Given the description of an element on the screen output the (x, y) to click on. 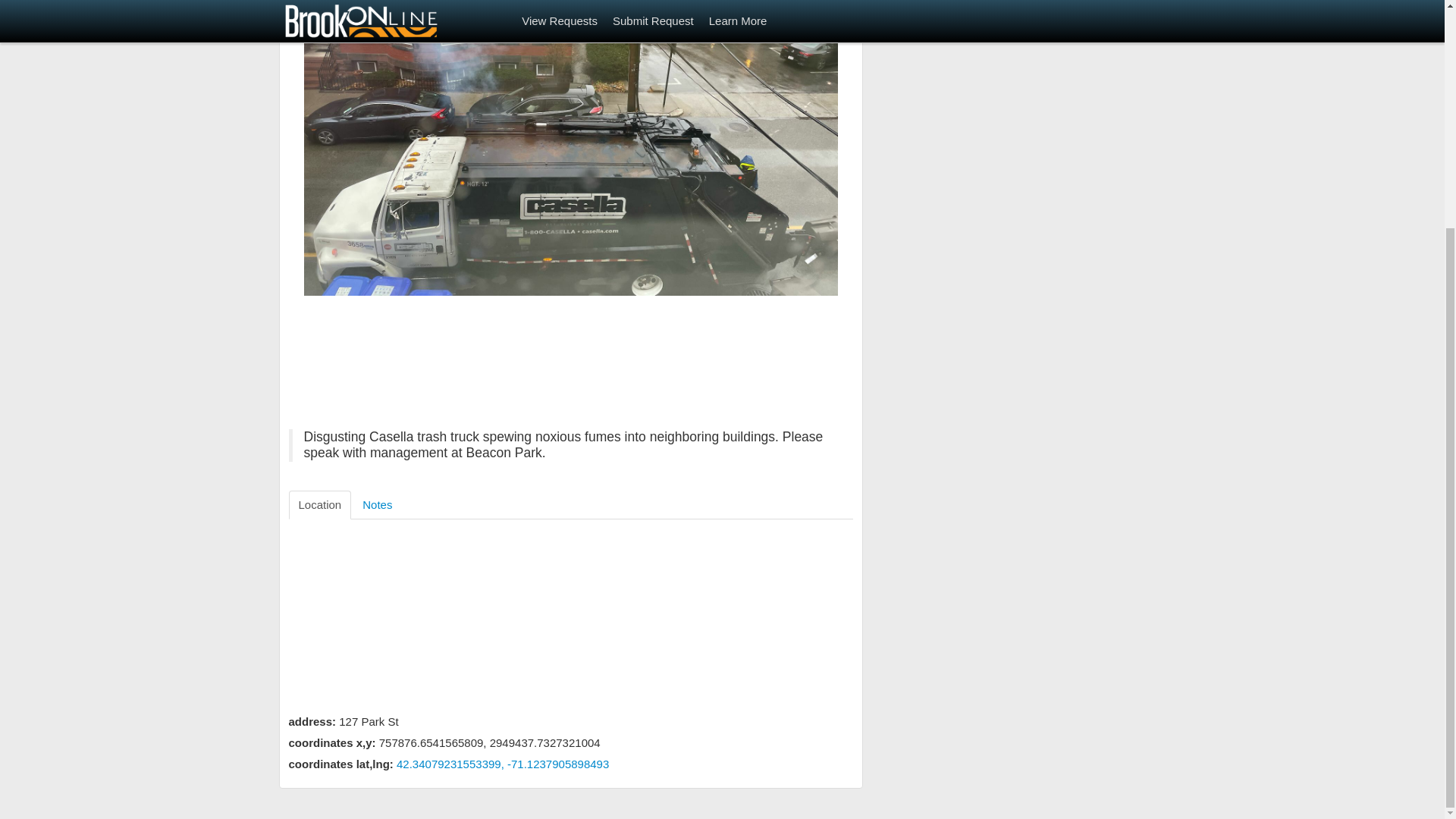
Notes (376, 504)
42.34079231553399, -71.1237905898493 (502, 763)
Location (319, 504)
